Given the description of an element on the screen output the (x, y) to click on. 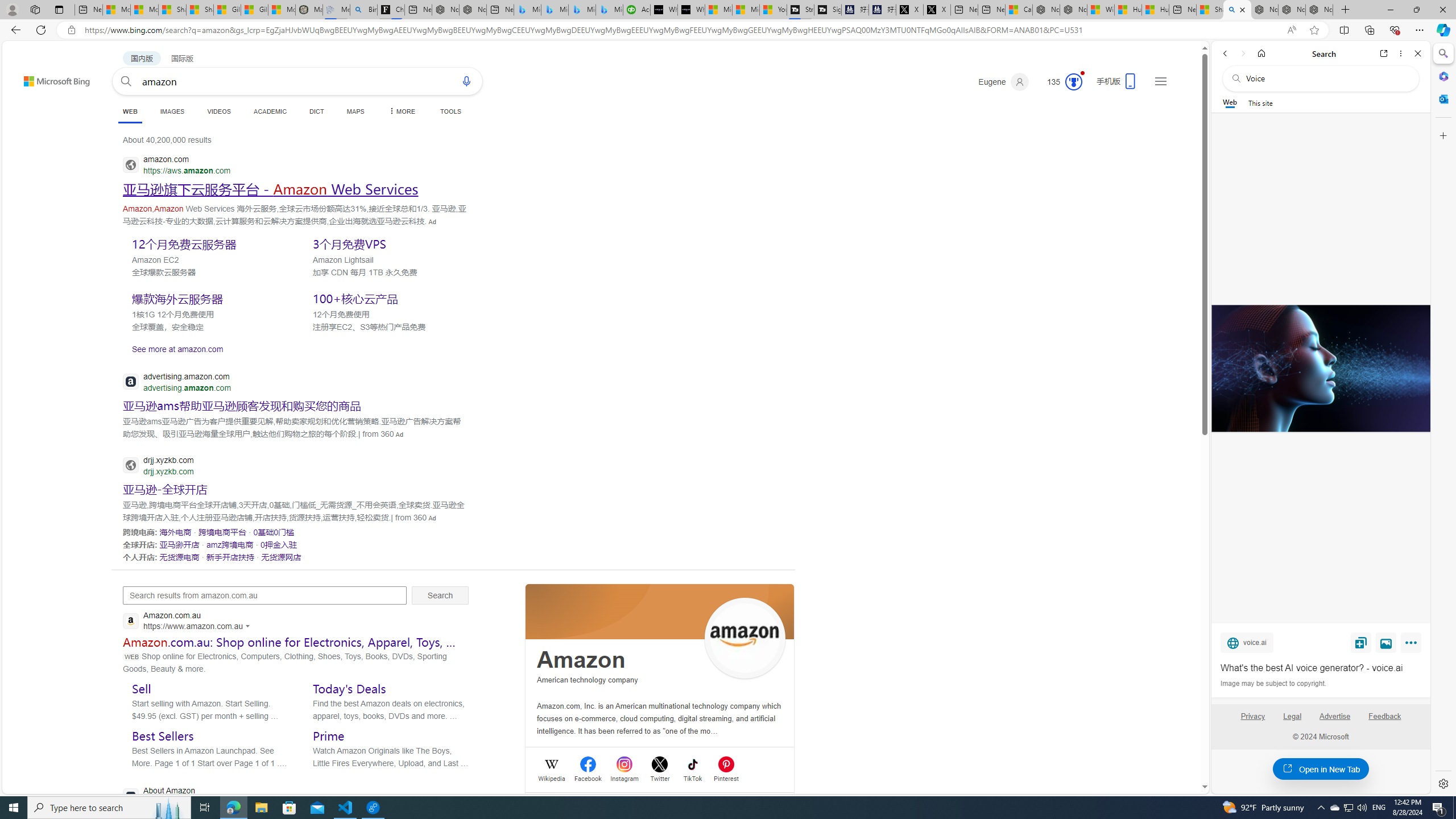
Read aloud this page (Ctrl+Shift+U) (1291, 29)
IMAGES (172, 111)
Class: outer-circle-animation (1073, 81)
SERP,5552 (207, 298)
Twitter (660, 777)
Forward (1242, 53)
Split screen (1344, 29)
Address and search bar (680, 29)
Advertise (1334, 720)
SERP,5573 (230, 556)
About Amazon (226, 796)
